Given the description of an element on the screen output the (x, y) to click on. 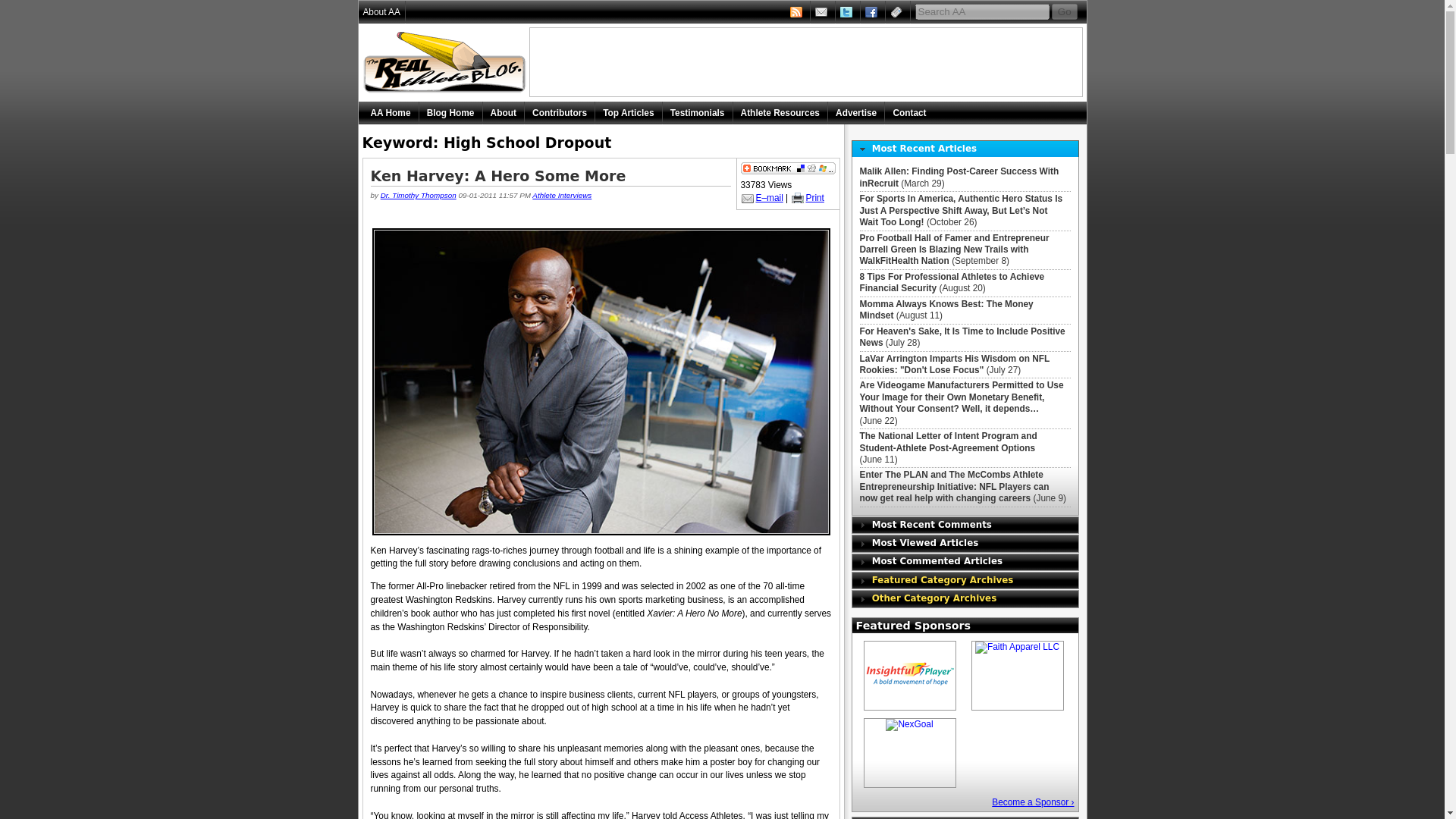
Go (1064, 11)
Athlete Interviews (561, 194)
Bookmark and Share (786, 171)
Momma Always Knows Best: The Money Mindset (946, 309)
Print (807, 197)
The Real Athlete Blog (446, 62)
 Faith Apparel LLC (1017, 647)
Free Download - A Gift of Insights (909, 675)
For Heaven's Sake, It Is Time to Include Positive News (962, 336)
The Real Athlete Blog Homepage (450, 112)
Access Athletes Blog Homepage (446, 62)
Ken Harvey: A Hero Some More (497, 175)
